Given the description of an element on the screen output the (x, y) to click on. 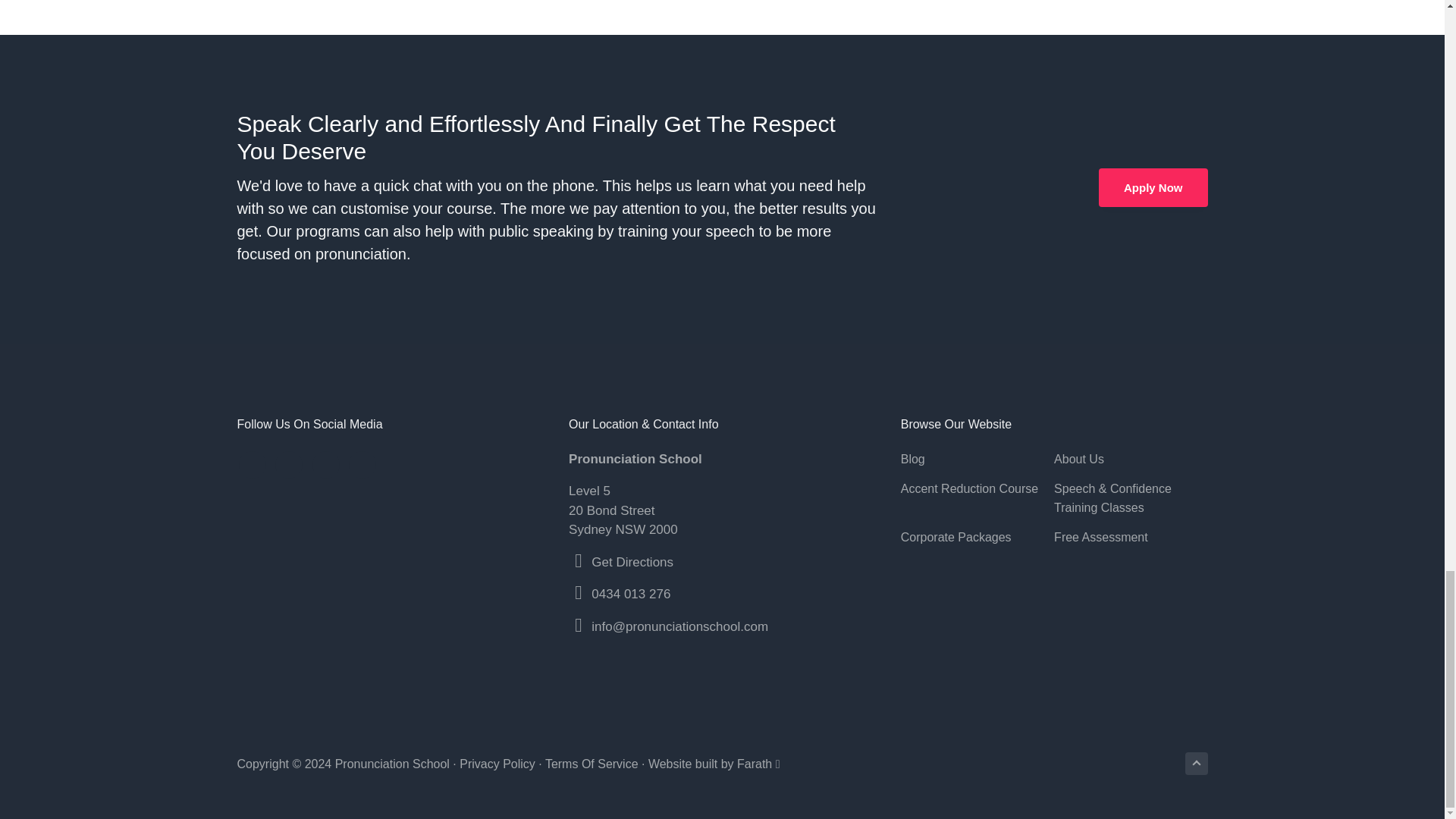
Privacy Policy (497, 763)
Corporate Packages (977, 537)
Get Directions (631, 562)
Terms Of Service (591, 763)
0434 013 276 (630, 594)
Accent Reduction Course (977, 488)
Free Assessment (1130, 537)
Blog (977, 459)
About Us (1130, 459)
Apply Now (1153, 187)
Farath (753, 763)
